Given the description of an element on the screen output the (x, y) to click on. 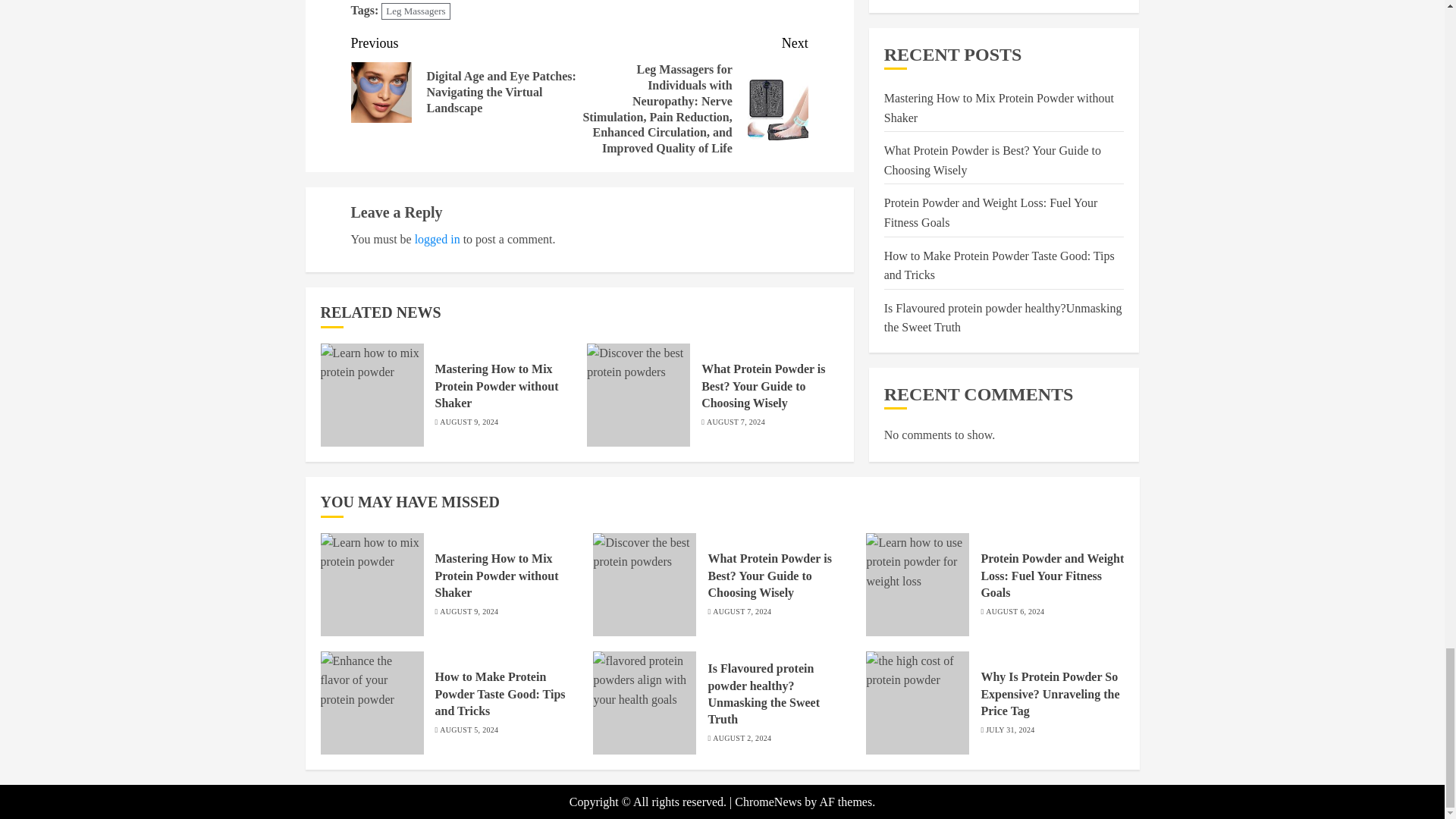
AUGUST 9, 2024 (468, 421)
Mastering How to Mix Protein Powder without Shaker (497, 386)
logged in (437, 238)
Leg Massagers (415, 11)
What Protein Powder is Best? Your Guide to Choosing Wisely (763, 386)
AUGUST 9, 2024 (468, 611)
AUGUST 7, 2024 (735, 421)
Mastering How to Mix Protein Powder without Shaker (497, 575)
